Given the description of an element on the screen output the (x, y) to click on. 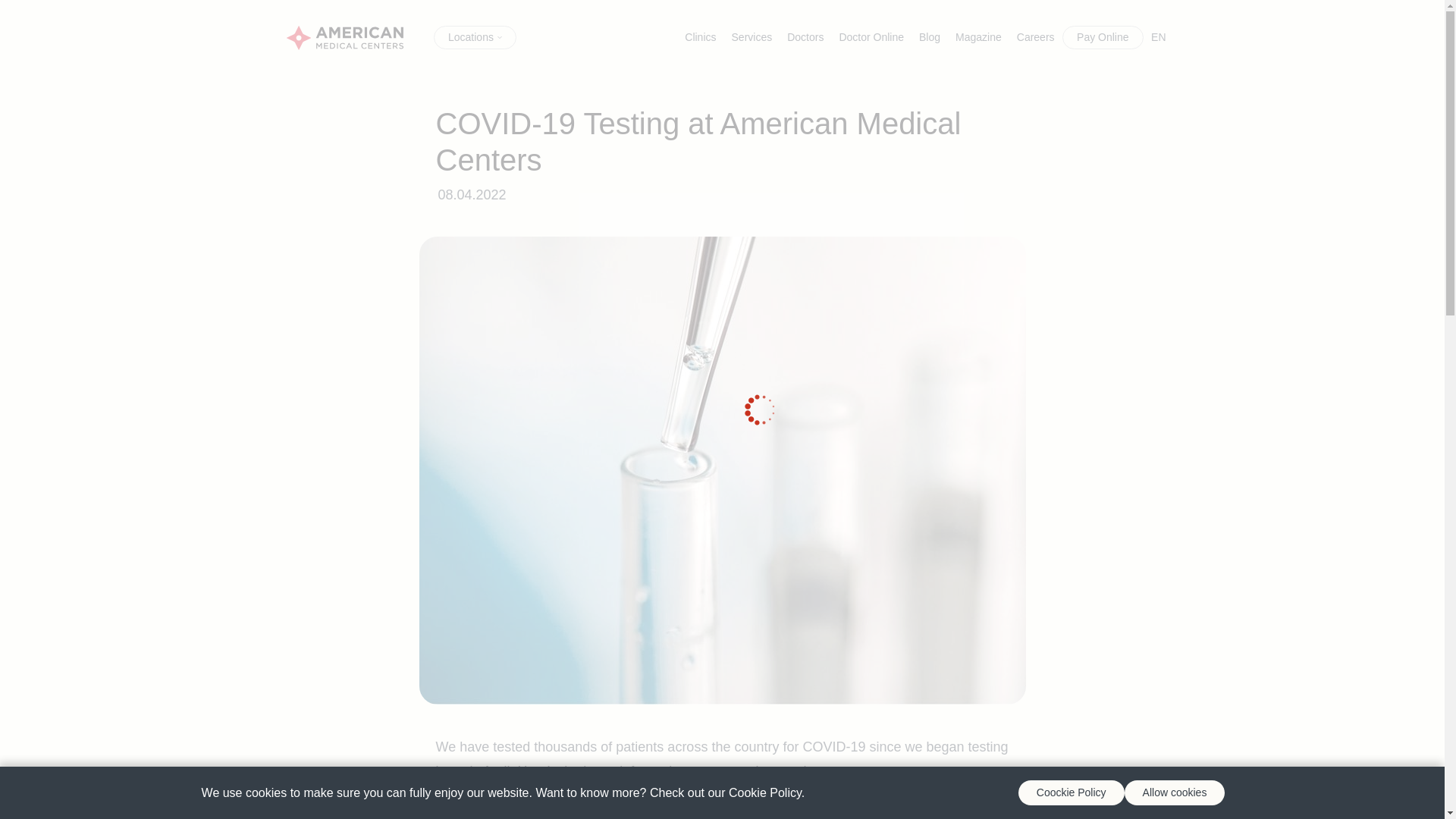
Locations (474, 37)
Pay Online (1102, 37)
Careers (1035, 37)
Magazine (978, 37)
Blog (929, 37)
EN (1157, 37)
Doctors (804, 37)
Doctor Online (871, 37)
Clinics (700, 37)
Services (751, 37)
